Given the description of an element on the screen output the (x, y) to click on. 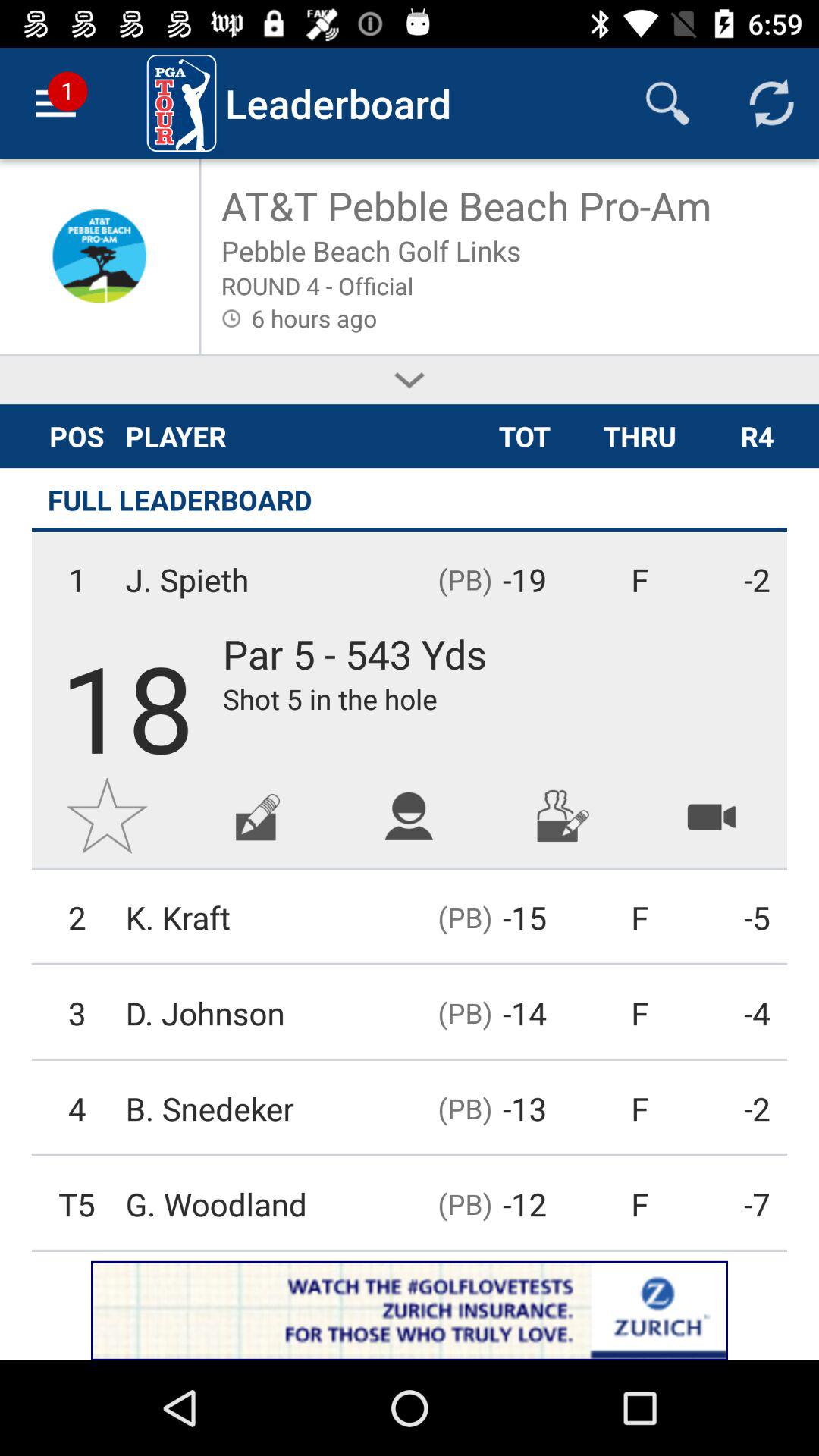
edit option (257, 815)
